Given the description of an element on the screen output the (x, y) to click on. 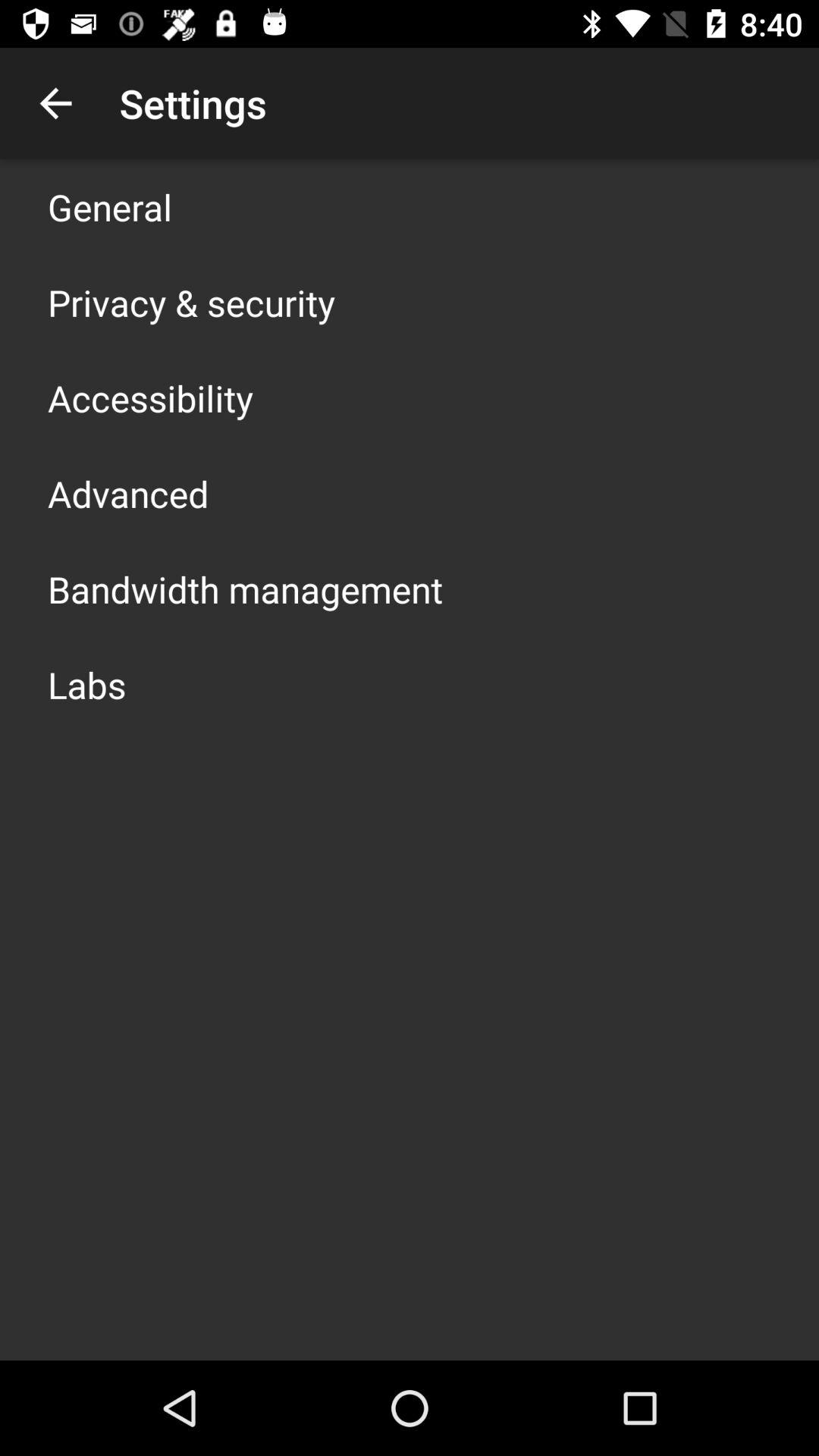
launch app next to the settings item (55, 103)
